Given the description of an element on the screen output the (x, y) to click on. 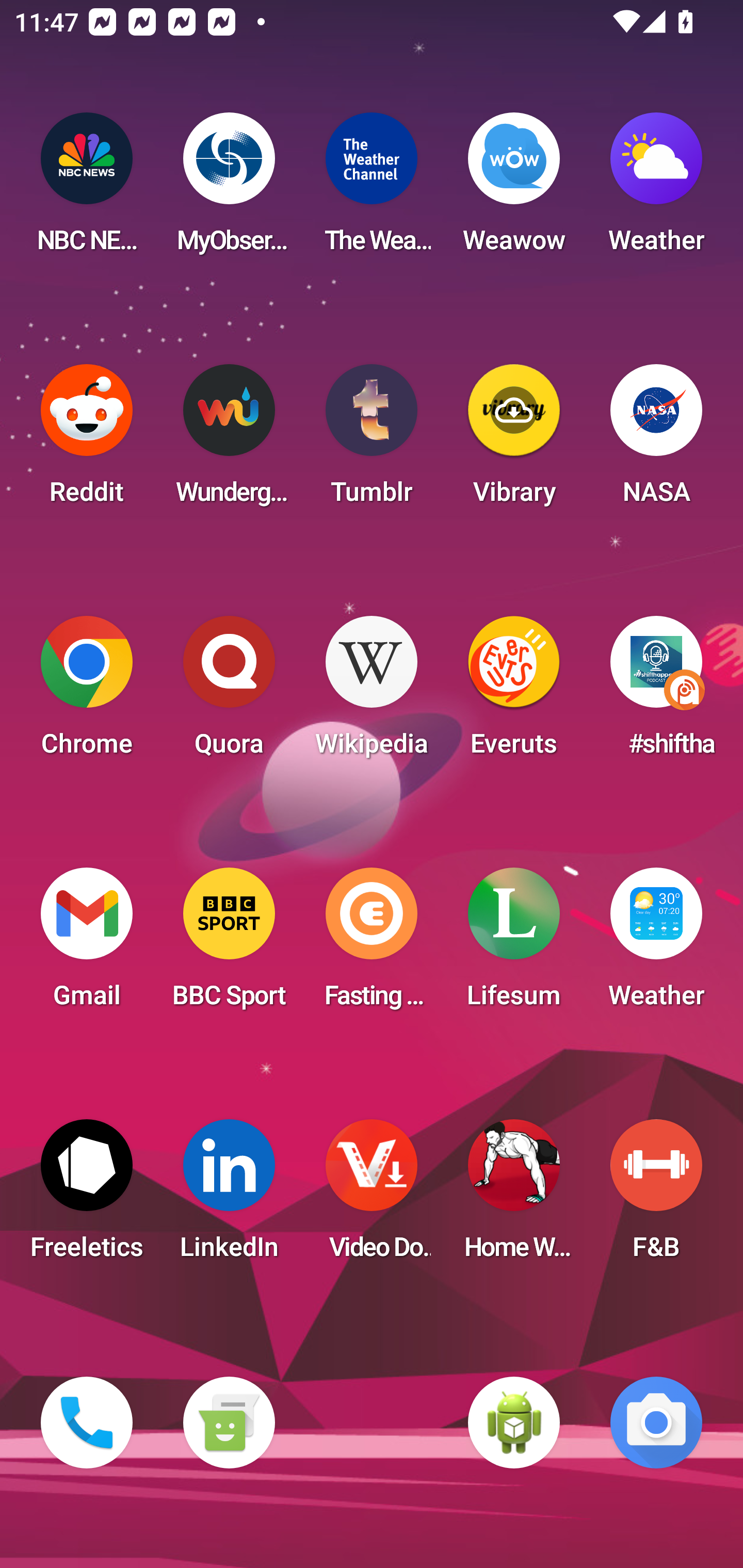
NBC NEWS (86, 188)
MyObservatory (228, 188)
The Weather Channel (371, 188)
Weawow (513, 188)
Weather (656, 188)
Reddit (86, 440)
Wunderground (228, 440)
Tumblr (371, 440)
Vibrary (513, 440)
NASA (656, 440)
Chrome (86, 692)
Quora (228, 692)
Wikipedia (371, 692)
Everuts (513, 692)
#shifthappens in the Digital Workplace Podcast (656, 692)
Gmail (86, 943)
BBC Sport (228, 943)
Fasting Coach (371, 943)
Lifesum (513, 943)
Weather (656, 943)
Freeletics (86, 1195)
LinkedIn (228, 1195)
Video Downloader & Ace Player (371, 1195)
Home Workout (513, 1195)
F&B (656, 1195)
Phone (86, 1422)
Messaging (228, 1422)
WebView Browser Tester (513, 1422)
Camera (656, 1422)
